Given the description of an element on the screen output the (x, y) to click on. 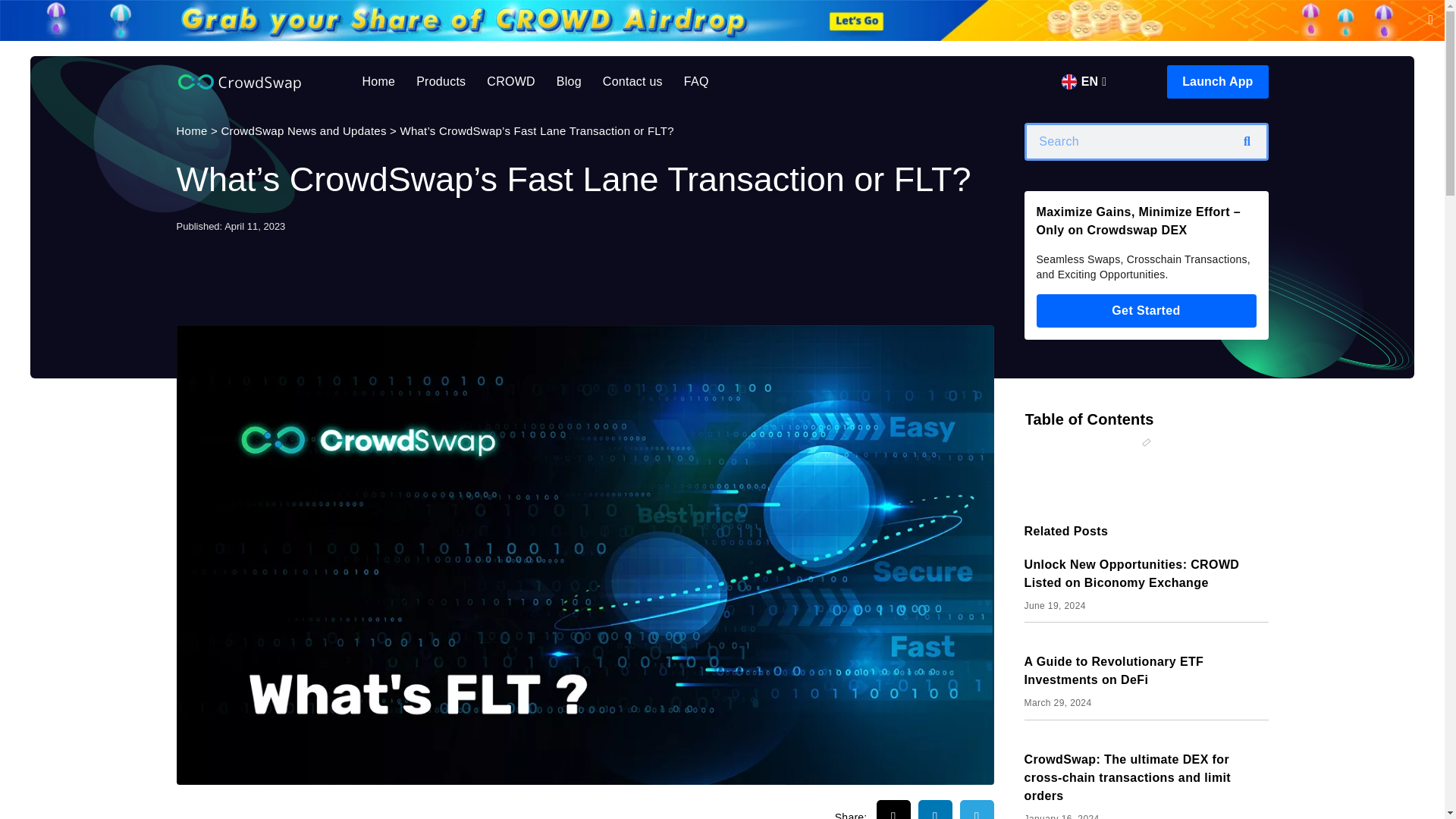
EN (1084, 82)
Products (441, 81)
Contact us (632, 81)
FAQ (696, 81)
Home (191, 130)
Blog (568, 81)
Home (379, 81)
Search (1247, 141)
Get Started (1146, 310)
CrowdSwap News and Updates (303, 130)
